Given the description of an element on the screen output the (x, y) to click on. 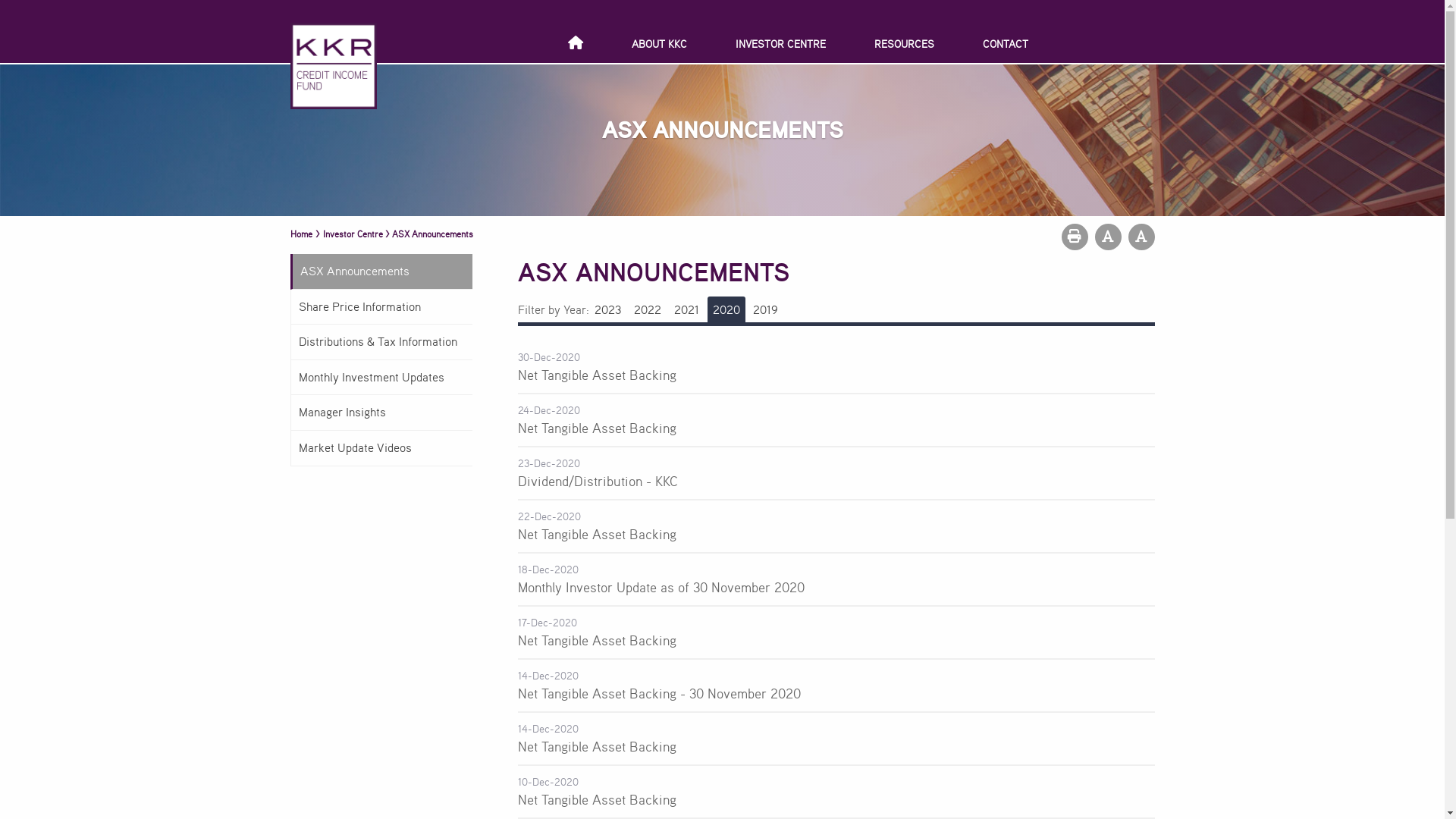
Dividend/Distribution - KKC Element type: text (597, 480)
Investor Centre Element type: text (352, 233)
2023 Element type: text (607, 309)
ASX Announcements Element type: text (431, 233)
2022 Element type: text (646, 309)
Monthly Investor Update as of 30 November 2020 Element type: text (660, 586)
Net Tangible Asset Backing Element type: text (596, 427)
Home Element type: text (300, 232)
ABOUT KKC Element type: text (658, 43)
Net Tangible Asset Backing Element type: text (596, 745)
Distributions & Tax Information Element type: text (380, 342)
Net Tangible Asset Backing Element type: text (596, 374)
2021 Element type: text (686, 309)
Print Page Element type: hover (1074, 236)
Net Tangible Asset Backing Element type: text (596, 798)
Share Price Information Element type: text (380, 307)
ASX Announcements Element type: text (380, 271)
INVESTOR CENTRE Element type: text (780, 43)
Font Smaller Element type: hover (1108, 236)
Net Tangible Asset Backing Element type: text (596, 533)
CONTACT Element type: text (1005, 43)
Market Update Videos Element type: text (380, 448)
Font Larger Element type: hover (1141, 236)
Net Tangible Asset Backing - 30 November 2020 Element type: text (658, 692)
2019 Element type: text (765, 309)
RESOURCES Element type: text (904, 43)
Net Tangible Asset Backing Element type: text (596, 639)
2020 Element type: text (725, 309)
Manager Insights Element type: text (380, 412)
Monthly Investment Updates Element type: text (380, 377)
